Given the description of an element on the screen output the (x, y) to click on. 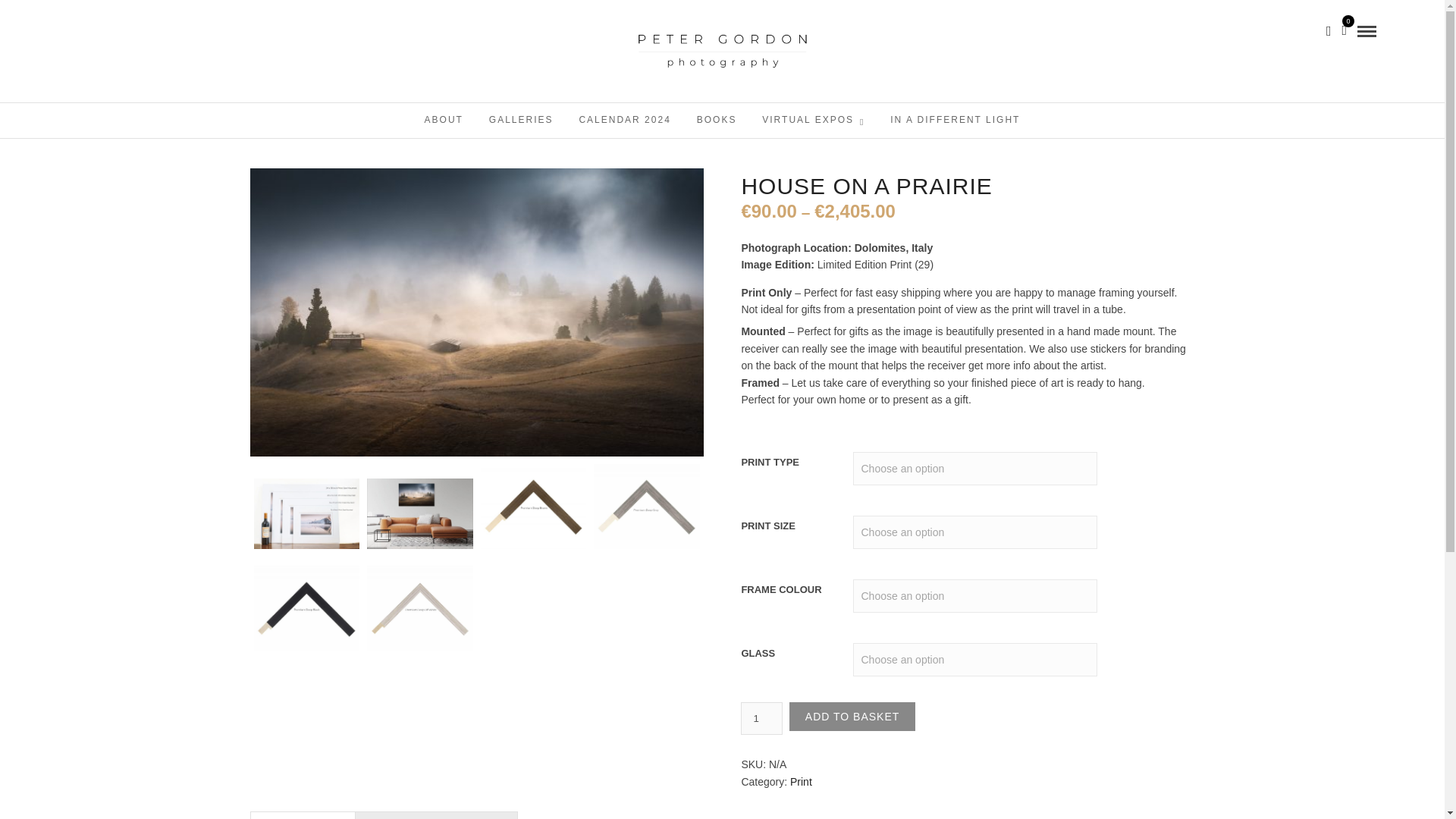
1 (761, 717)
VIRTUAL EXPOS (813, 120)
Description (302, 815)
ohmyprints-18112020-132300 (418, 513)
Framing Information (436, 815)
GALLERIES (520, 120)
Print (801, 781)
CALENDAR 2024 (624, 120)
ABOUT (443, 120)
BOOKS (716, 120)
IN A DIFFERENT LIGHT (954, 120)
ADD TO BASKET (852, 716)
